Given the description of an element on the screen output the (x, y) to click on. 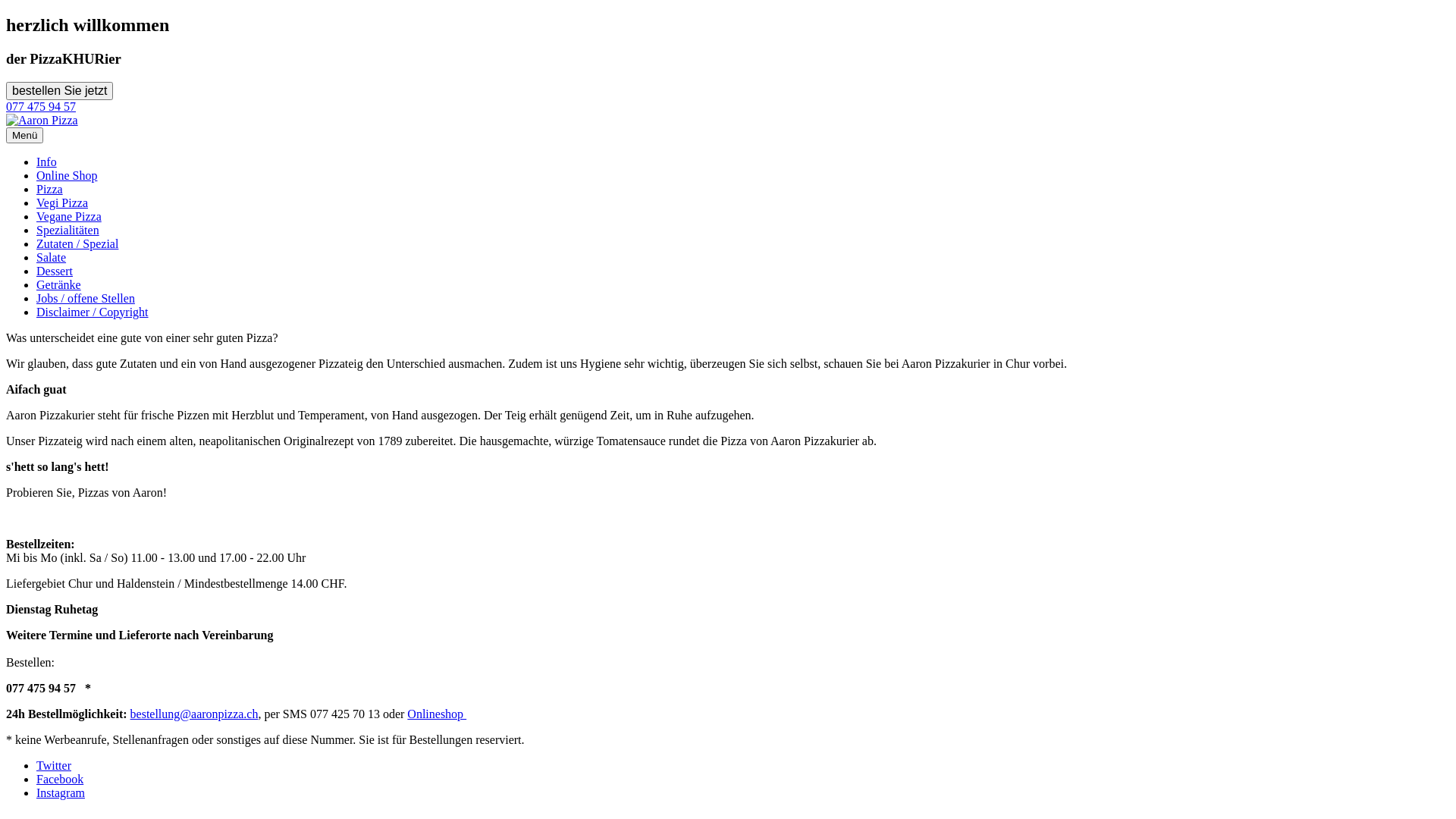
Vegane Pizza Element type: text (68, 216)
Disclaimer / Copyright Element type: text (92, 311)
Aaron Pizza Element type: hover (42, 120)
Facebook Element type: text (59, 778)
Vegi Pizza Element type: text (61, 202)
Salate Element type: text (50, 257)
Onlineshop Element type: text (436, 713)
Zutaten / Spezial Element type: text (77, 243)
Jobs / offene Stellen Element type: text (85, 297)
bestellen Sie jetzt Element type: text (59, 90)
bestellung@aaronpizza.ch Element type: text (194, 713)
Online Shop Element type: text (66, 175)
Dessert Element type: text (54, 270)
Pizza Element type: text (49, 188)
077 475 94 57 Element type: text (40, 106)
Info Element type: text (46, 161)
Twitter Element type: text (53, 765)
Instagram Element type: text (60, 792)
